Given the description of an element on the screen output the (x, y) to click on. 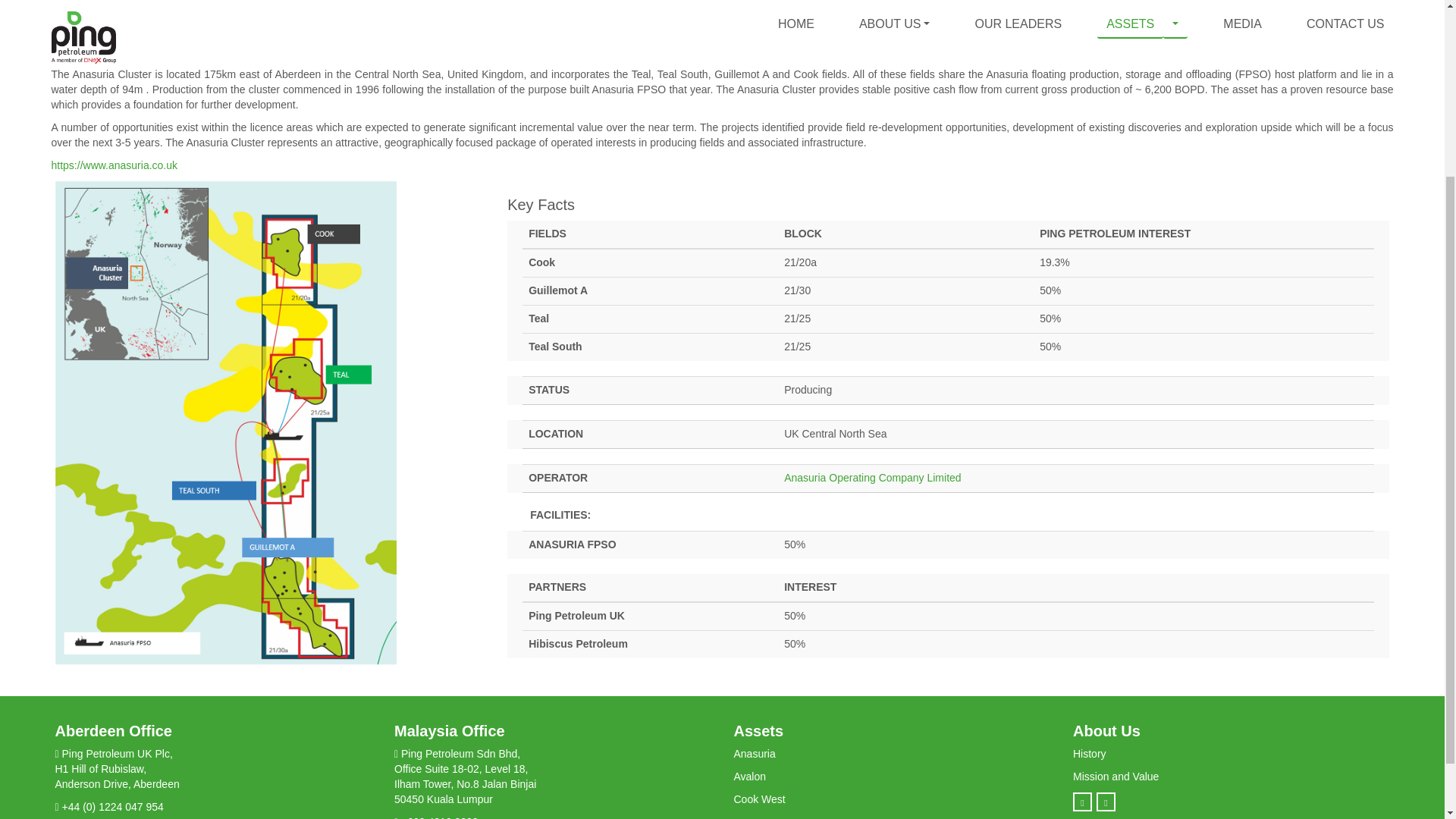
Anasuria Operating Company Limited (872, 477)
History (1089, 753)
Anasuria (754, 753)
Cook West (759, 799)
Mission and Value (1115, 776)
Avalon (750, 776)
